Given the description of an element on the screen output the (x, y) to click on. 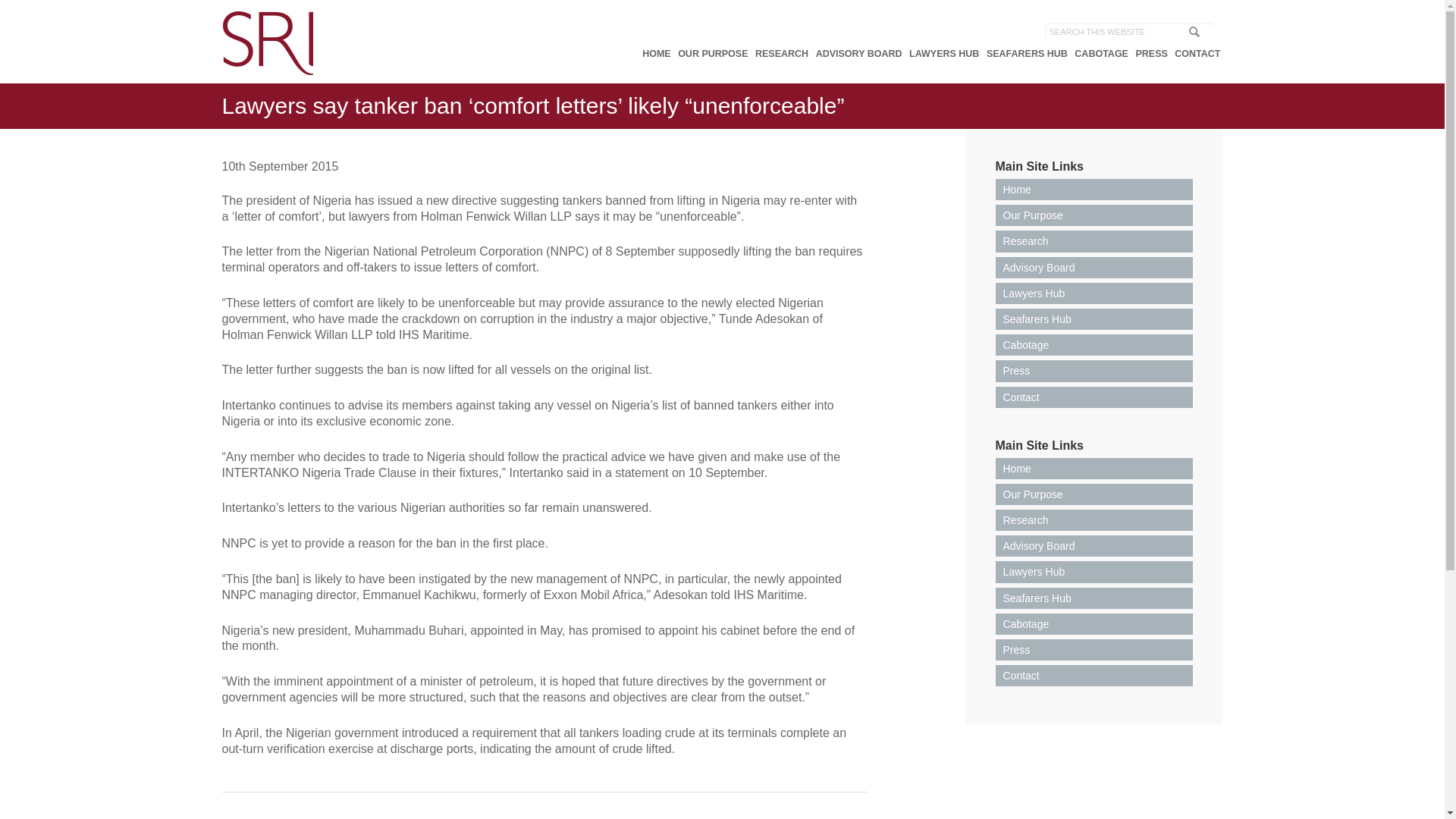
Contact (1093, 675)
Advisory Board (1093, 545)
Cabotage (1093, 344)
RESEARCH (781, 53)
Seafarers Hub (1093, 598)
Contact (1093, 396)
HOME (656, 53)
Lawyers Hub (1093, 292)
Lawyers Hub (1093, 571)
Press (1093, 649)
Research (1093, 519)
Our Purpose (1093, 215)
